Given the description of an element on the screen output the (x, y) to click on. 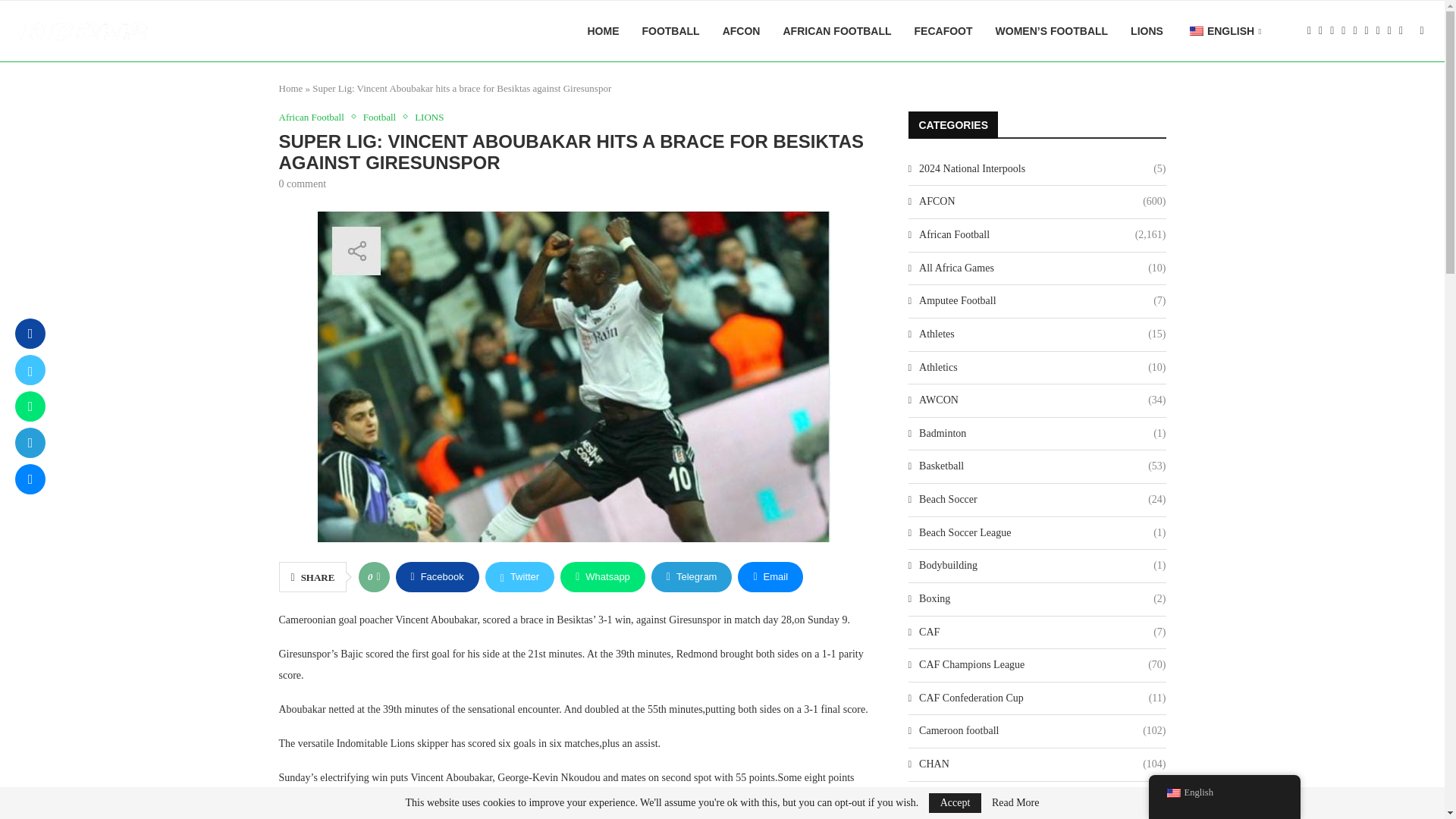
Whatsapp (602, 576)
FECAFOOT (943, 30)
ENGLISH (1224, 31)
English (1196, 31)
Telegram (691, 576)
African Football (315, 117)
AFRICAN FOOTBALL (837, 30)
Home (290, 88)
Twitter (519, 576)
LIONS (429, 117)
Facebook (437, 576)
Football (382, 117)
Email (770, 576)
FOOTBALL (670, 30)
